Given the description of an element on the screen output the (x, y) to click on. 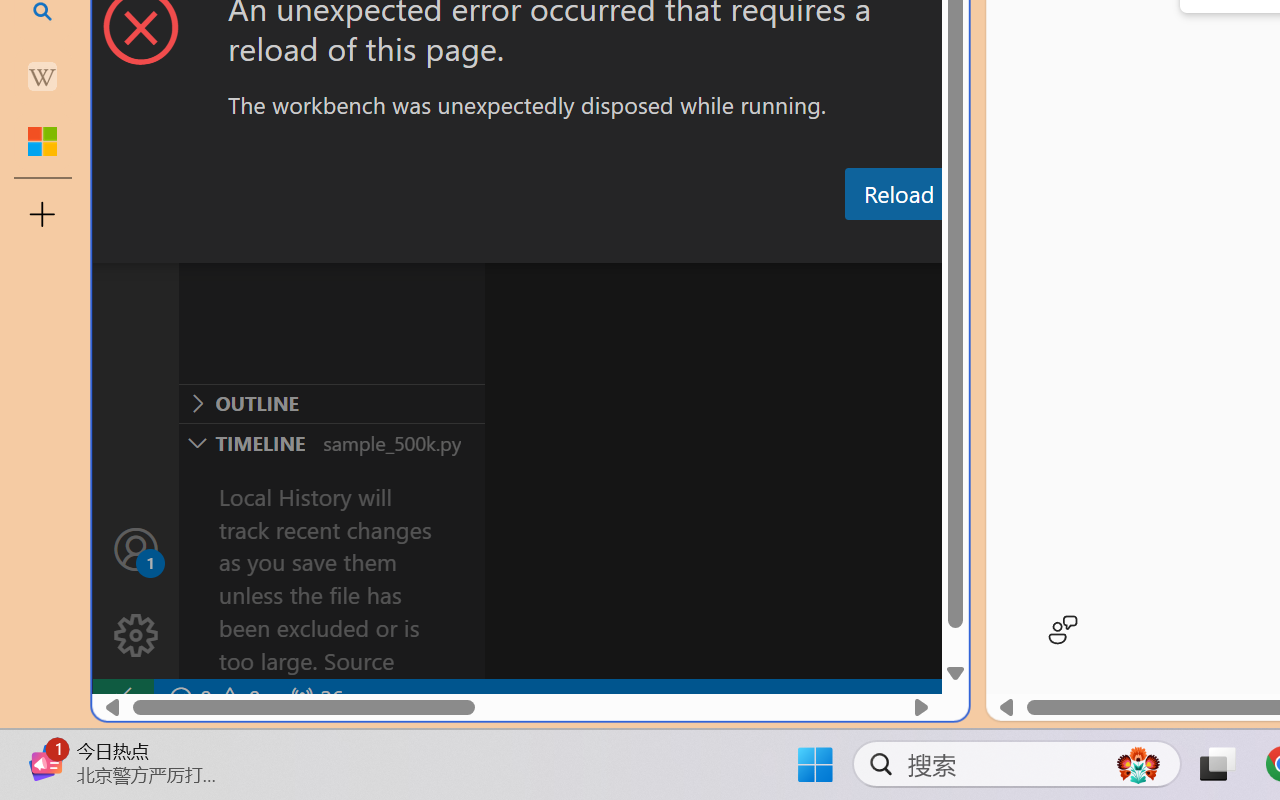
Debug Console (Ctrl+Shift+Y) (854, 243)
remote (122, 698)
Outline Section (331, 403)
Terminal (Ctrl+`) (1021, 243)
Output (Ctrl+Shift+U) (696, 243)
No Problems (212, 698)
Accounts - Sign in requested (135, 548)
Timeline Section (331, 442)
